Given the description of an element on the screen output the (x, y) to click on. 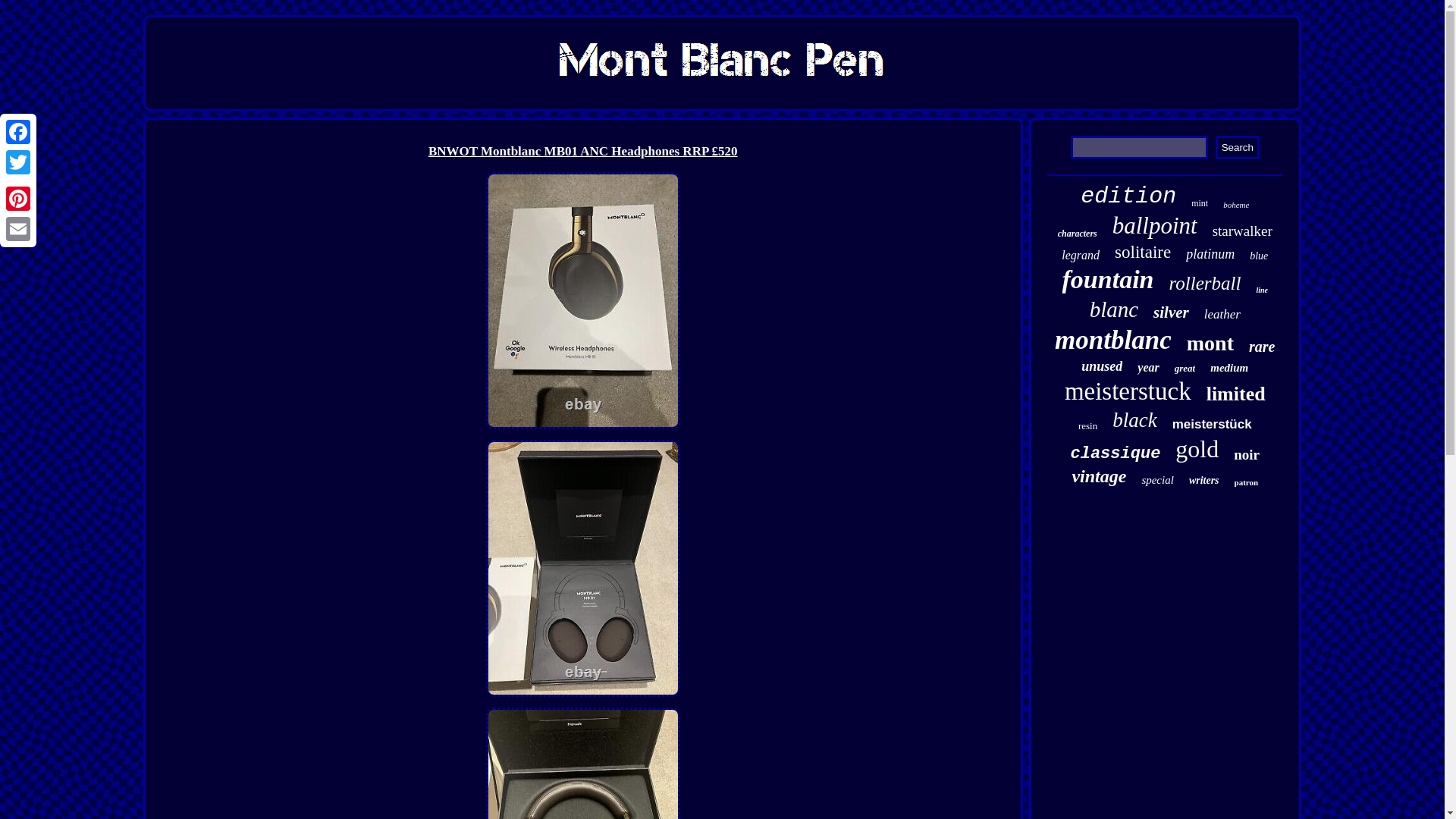
mont (1209, 343)
legrand (1080, 255)
platinum (1210, 254)
ballpoint (1154, 225)
unused (1101, 366)
Twitter (17, 162)
montblanc (1113, 340)
line (1261, 289)
starwalker (1242, 230)
boheme (1236, 204)
Email (17, 228)
Search (1237, 146)
Facebook (17, 132)
solitaire (1142, 252)
blanc (1113, 309)
